Given the description of an element on the screen output the (x, y) to click on. 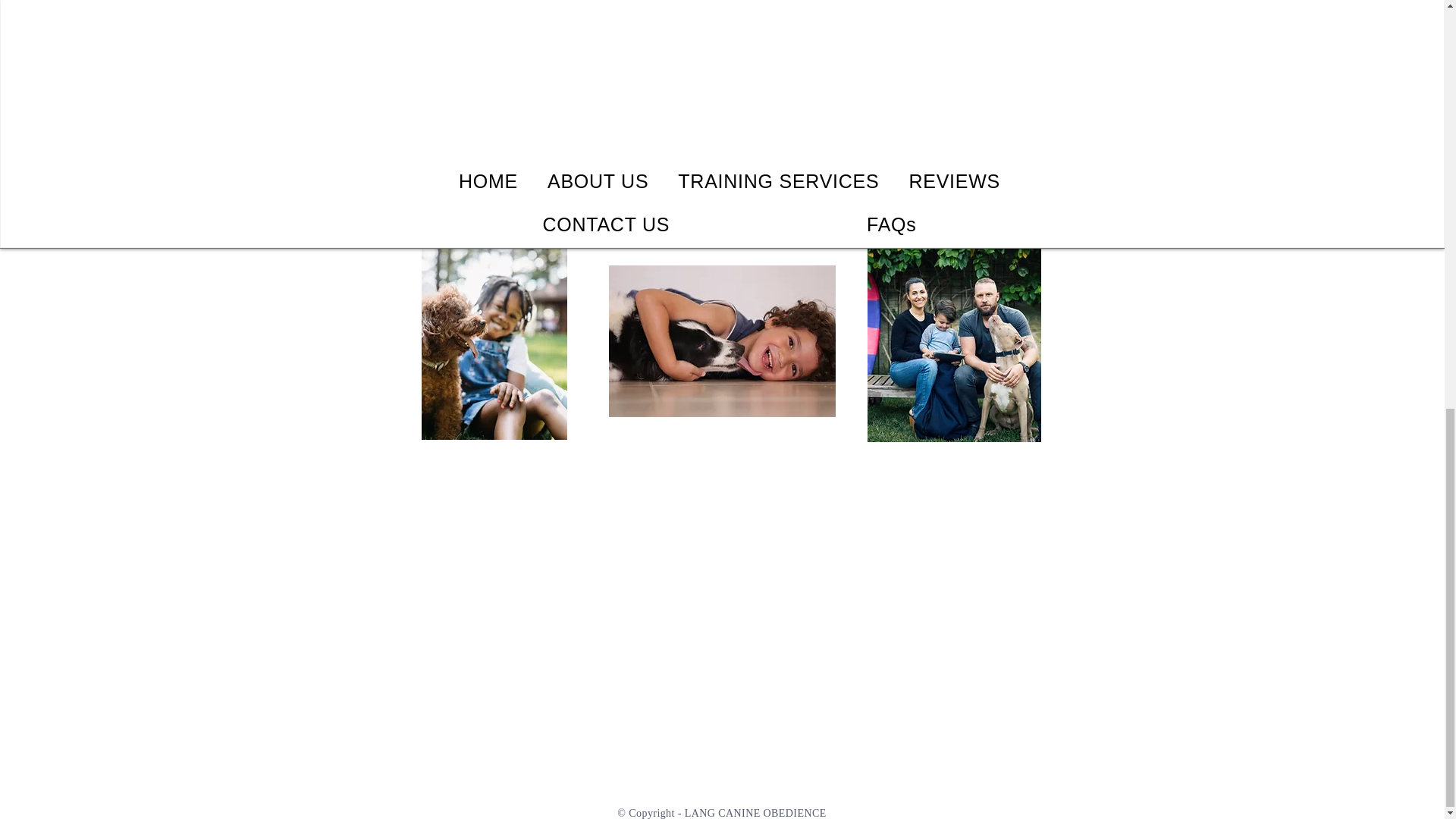
Get Started (721, 185)
